Given the description of an element on the screen output the (x, y) to click on. 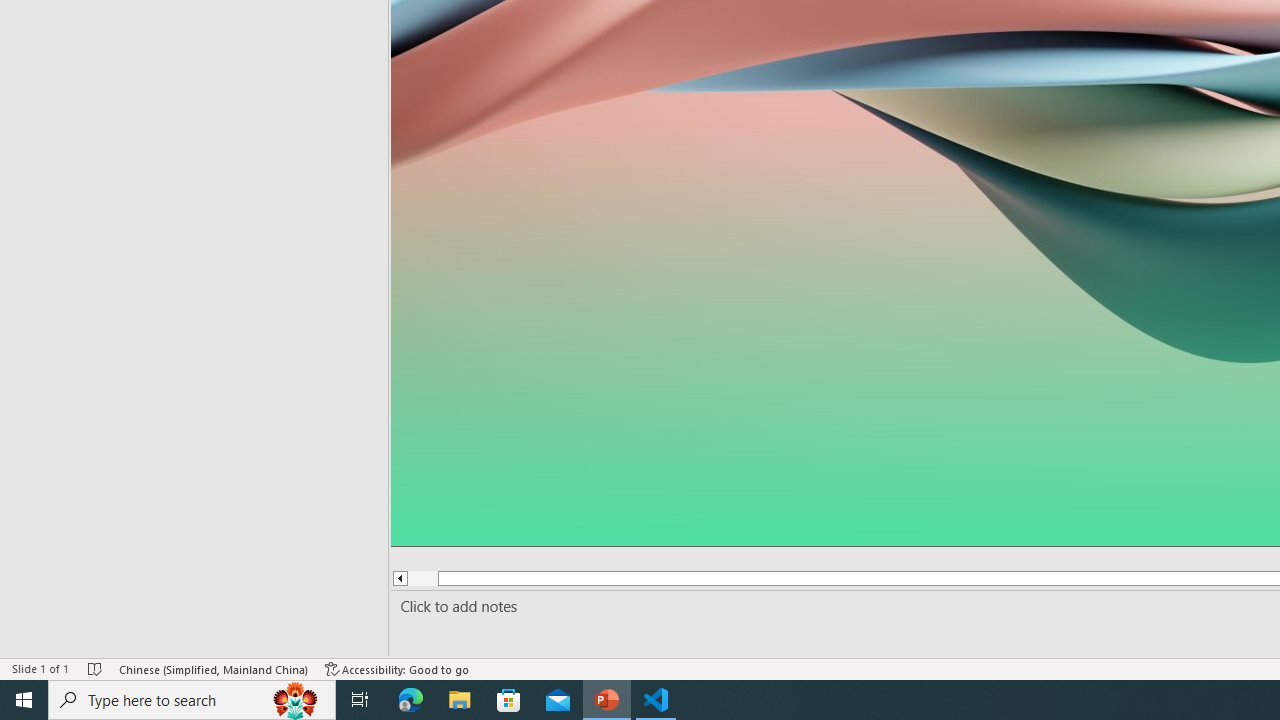
Page up (415, 578)
Accessibility Checker Accessibility: Good to go (397, 668)
Microsoft Edge (411, 699)
